Given the description of an element on the screen output the (x, y) to click on. 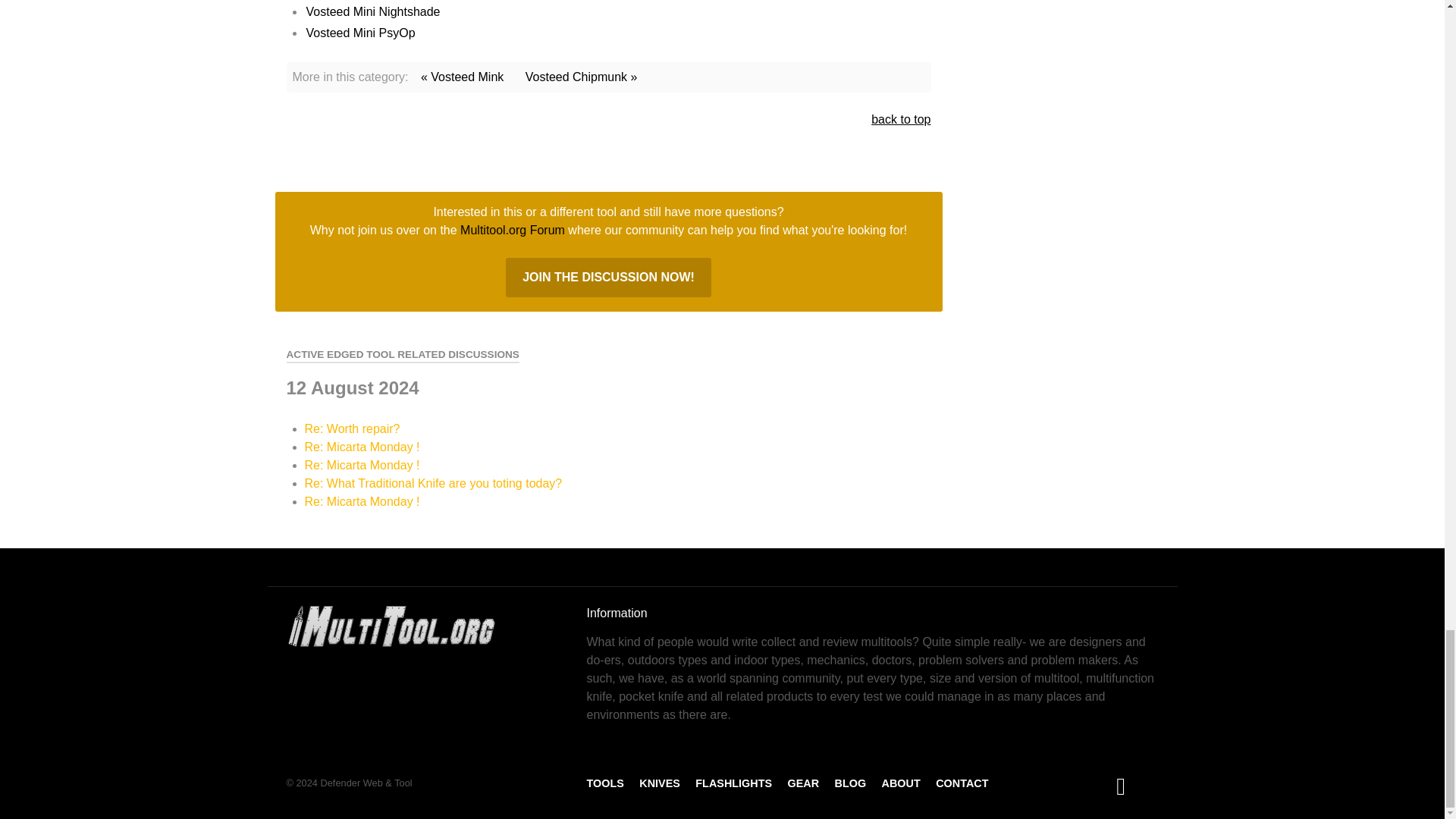
Tools (605, 783)
Knives (659, 783)
Gear (802, 783)
Flashlights (733, 783)
About (901, 783)
Contact (962, 783)
Blog (850, 783)
